Given the description of an element on the screen output the (x, y) to click on. 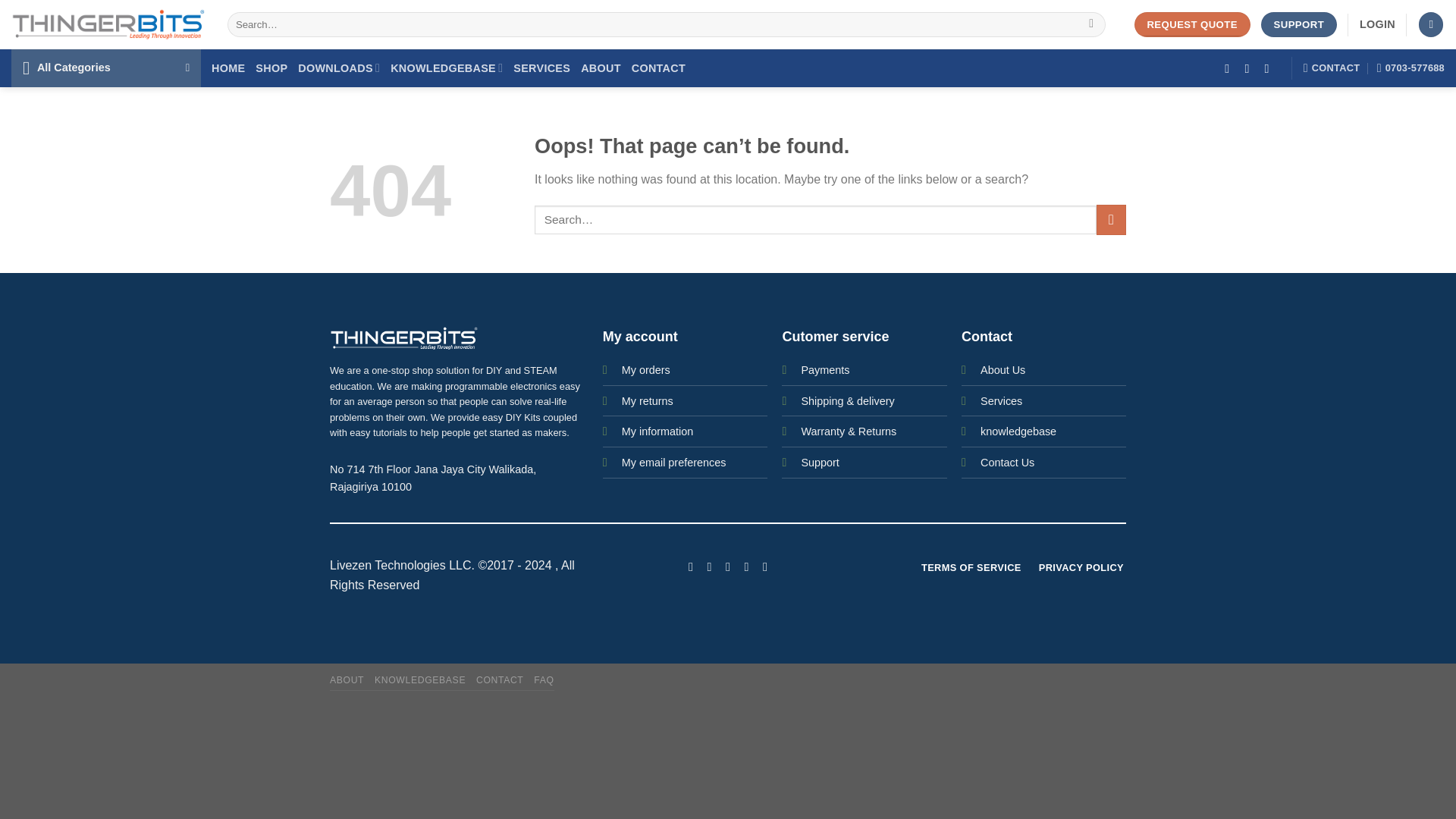
KNOWLEDGEBASE (446, 67)
Follow on YouTube (1270, 68)
REQUEST QUOTE (1192, 24)
0703-577688 (1410, 68)
Follow on LinkedIn (745, 566)
Follow on Pinterest (727, 566)
Follow on Facebook (1230, 68)
SERVICES (541, 67)
Follow on YouTube (764, 566)
SHOP (271, 67)
DOWNLOADS (339, 67)
LOGIN (1376, 24)
SUPPORT (1298, 24)
Follow on Instagram (708, 566)
